Given the description of an element on the screen output the (x, y) to click on. 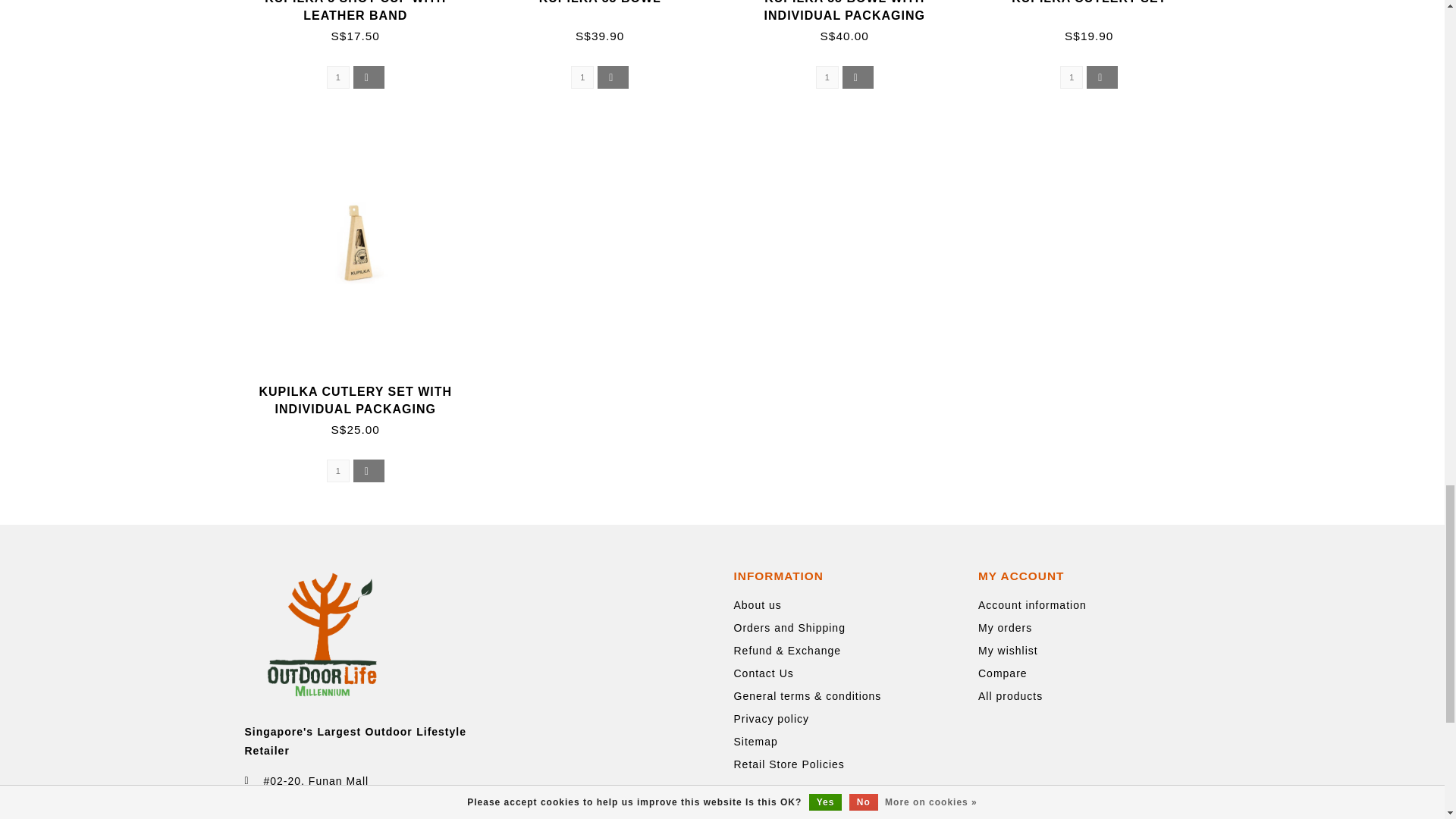
1 (826, 77)
Kupilka Kupilka 55 Bowl (599, 2)
Kupilka Kupilka Cutlery Set (1088, 2)
1 (337, 470)
1 (337, 77)
Kupilka Kupilka 55 Bowl with Individual Packaging (844, 11)
1 (1071, 77)
1 (582, 77)
Kupilka Kupilka 5 Shot Cup with Leather Band (354, 11)
